Given the description of an element on the screen output the (x, y) to click on. 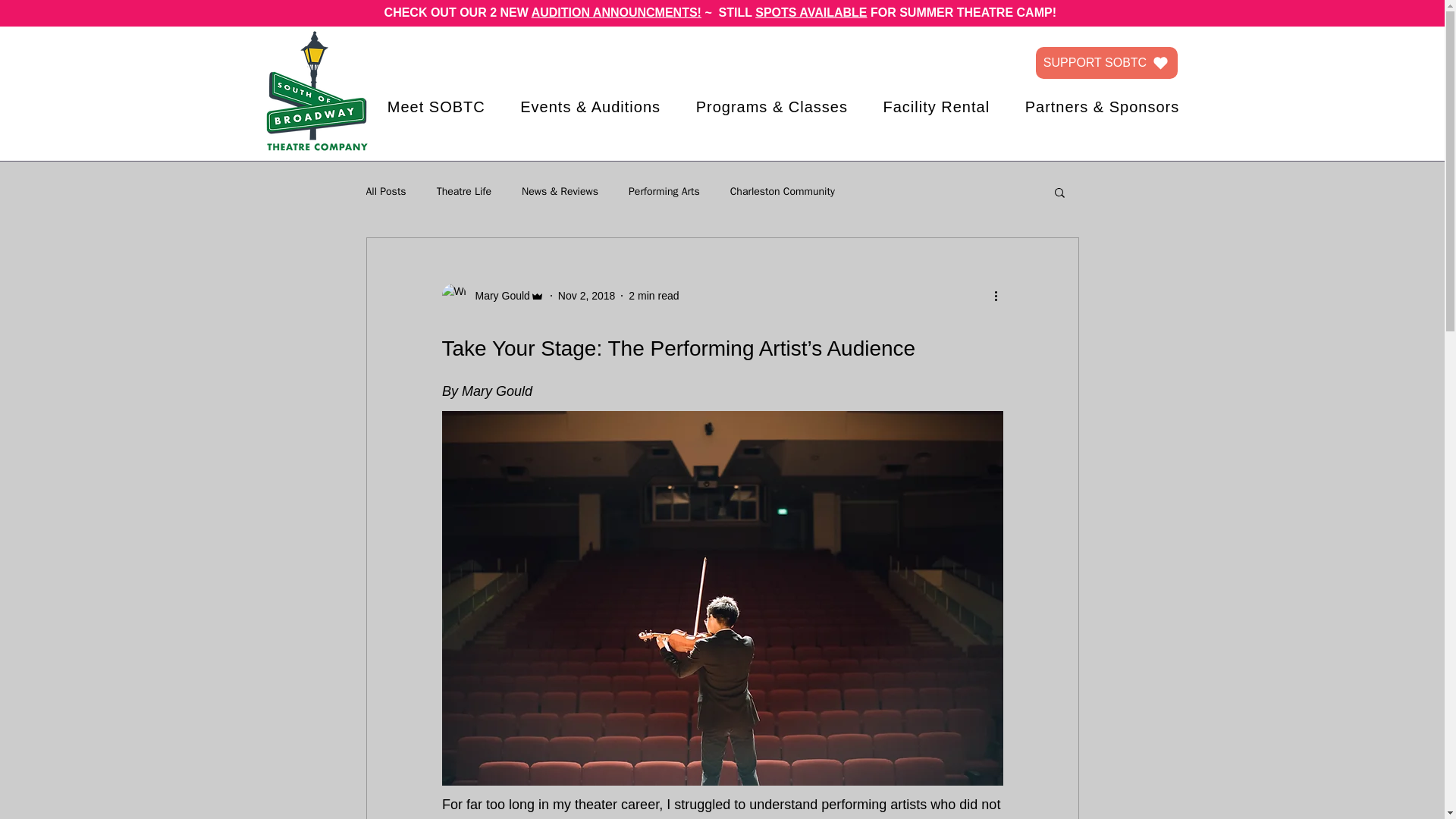
Facility Rental (935, 107)
Performing Arts (664, 192)
All Posts (385, 192)
SPOTS AVAILABLE (810, 11)
Nov 2, 2018 (586, 295)
2 min read (653, 295)
Mary Gould (497, 295)
Charleston Community (782, 192)
Theatre Life (464, 192)
AUDITION ANNOUNCMENTS! (616, 11)
Mary Gould (492, 295)
Meet SOBTC (435, 107)
Home (316, 92)
SUPPORT SOBTC (1106, 62)
